Given the description of an element on the screen output the (x, y) to click on. 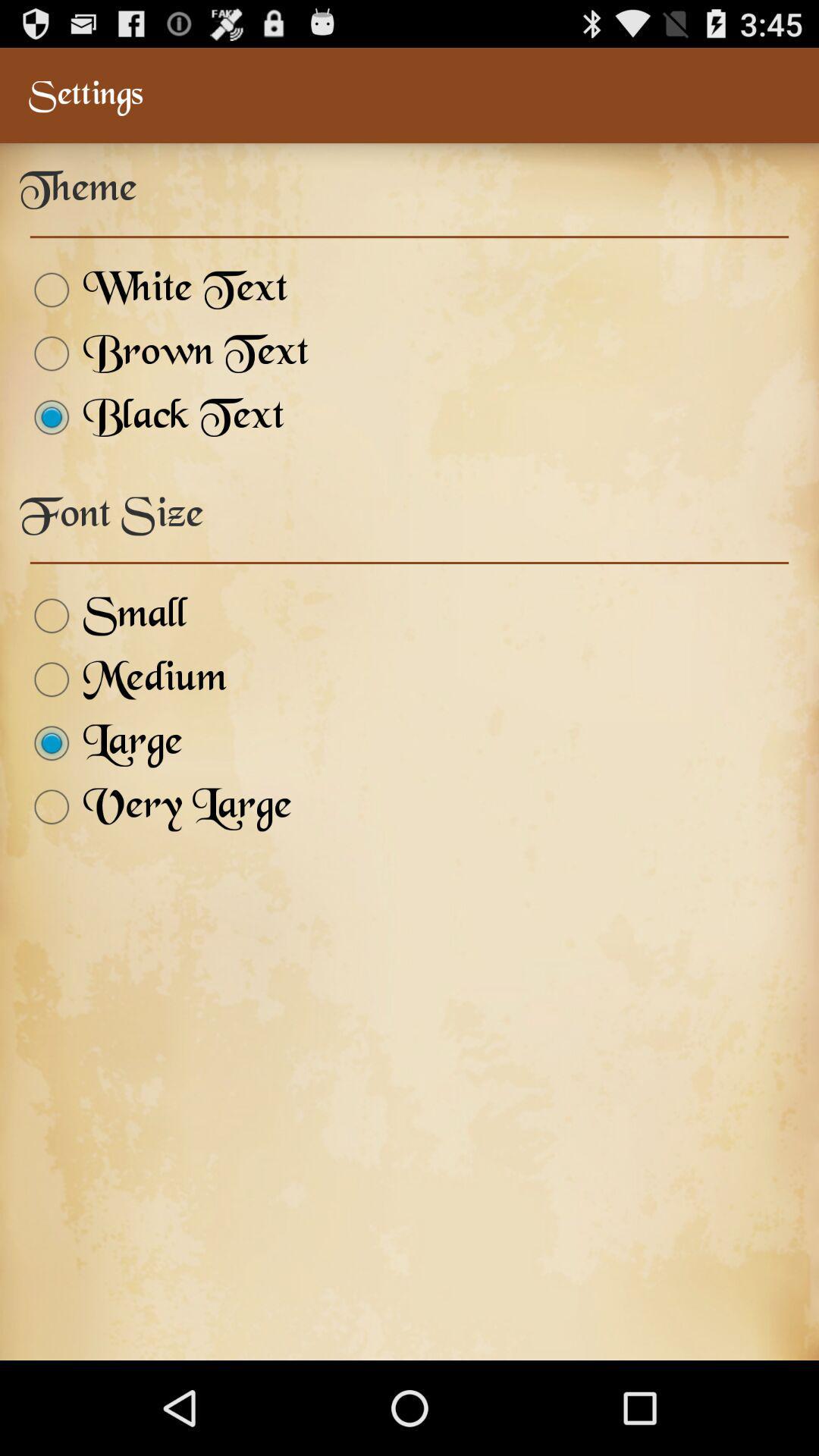
click item above large (122, 679)
